Given the description of an element on the screen output the (x, y) to click on. 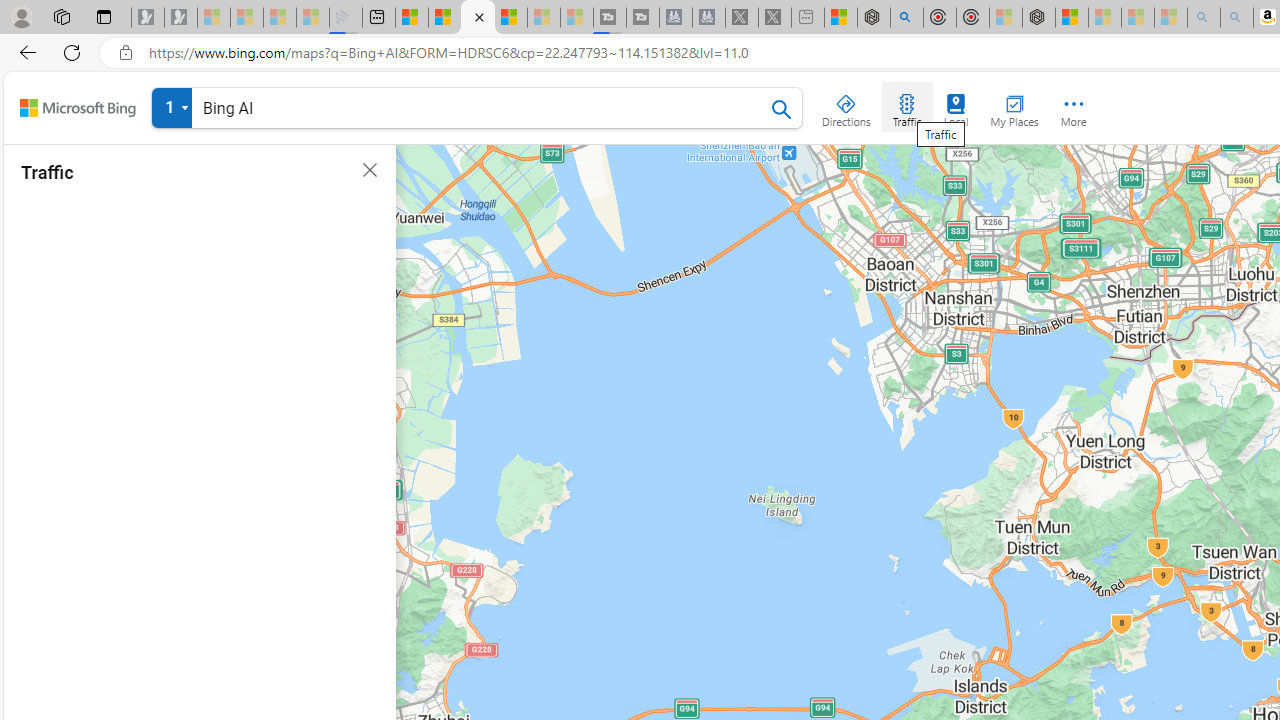
1Bing AI (477, 111)
Back to Bing search (77, 107)
amazon - Search - Sleeping (1203, 17)
New tab - Sleeping (808, 17)
More (1073, 106)
